Given the description of an element on the screen output the (x, y) to click on. 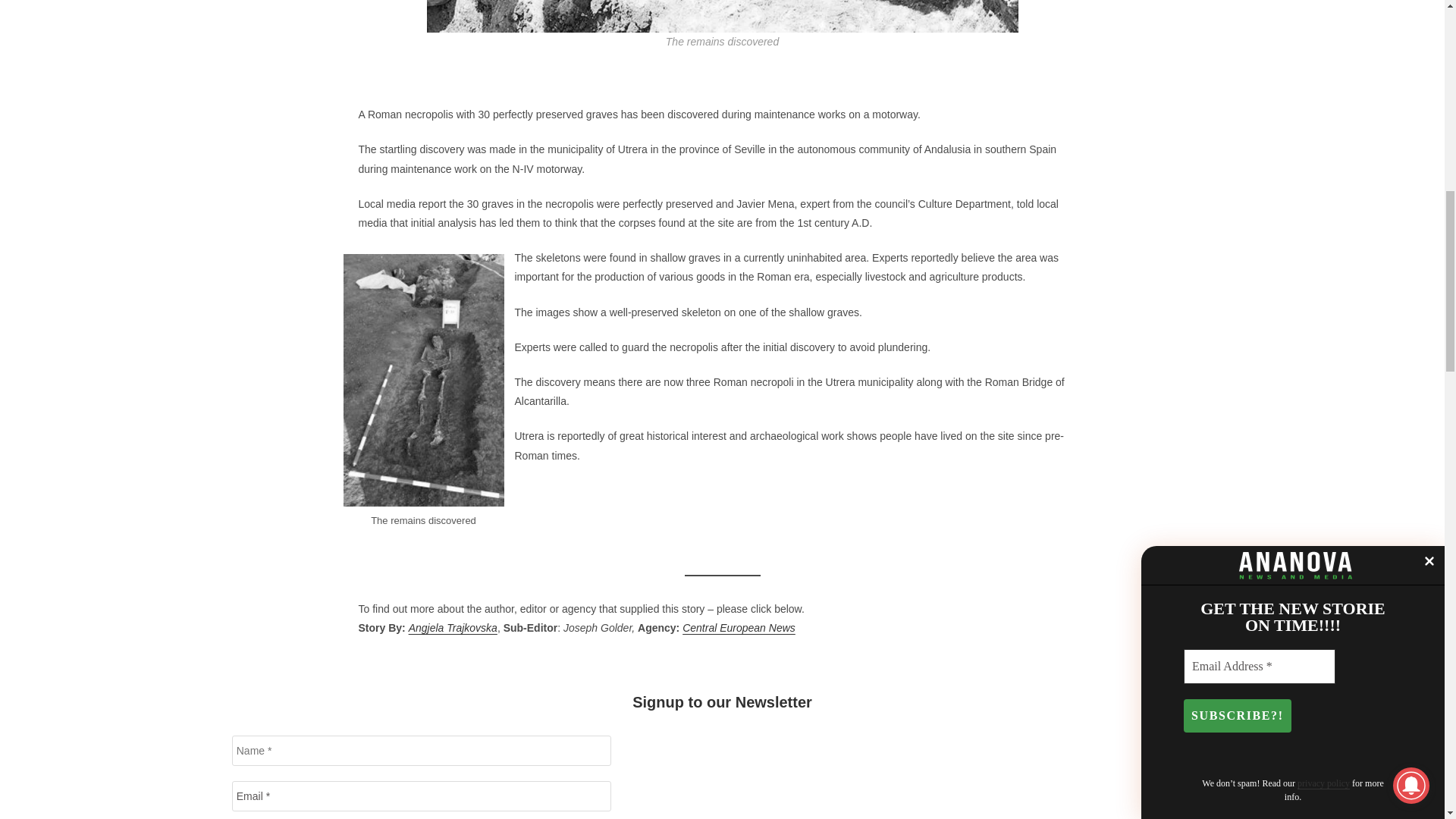
Email (421, 796)
Name (421, 750)
